Given the description of an element on the screen output the (x, y) to click on. 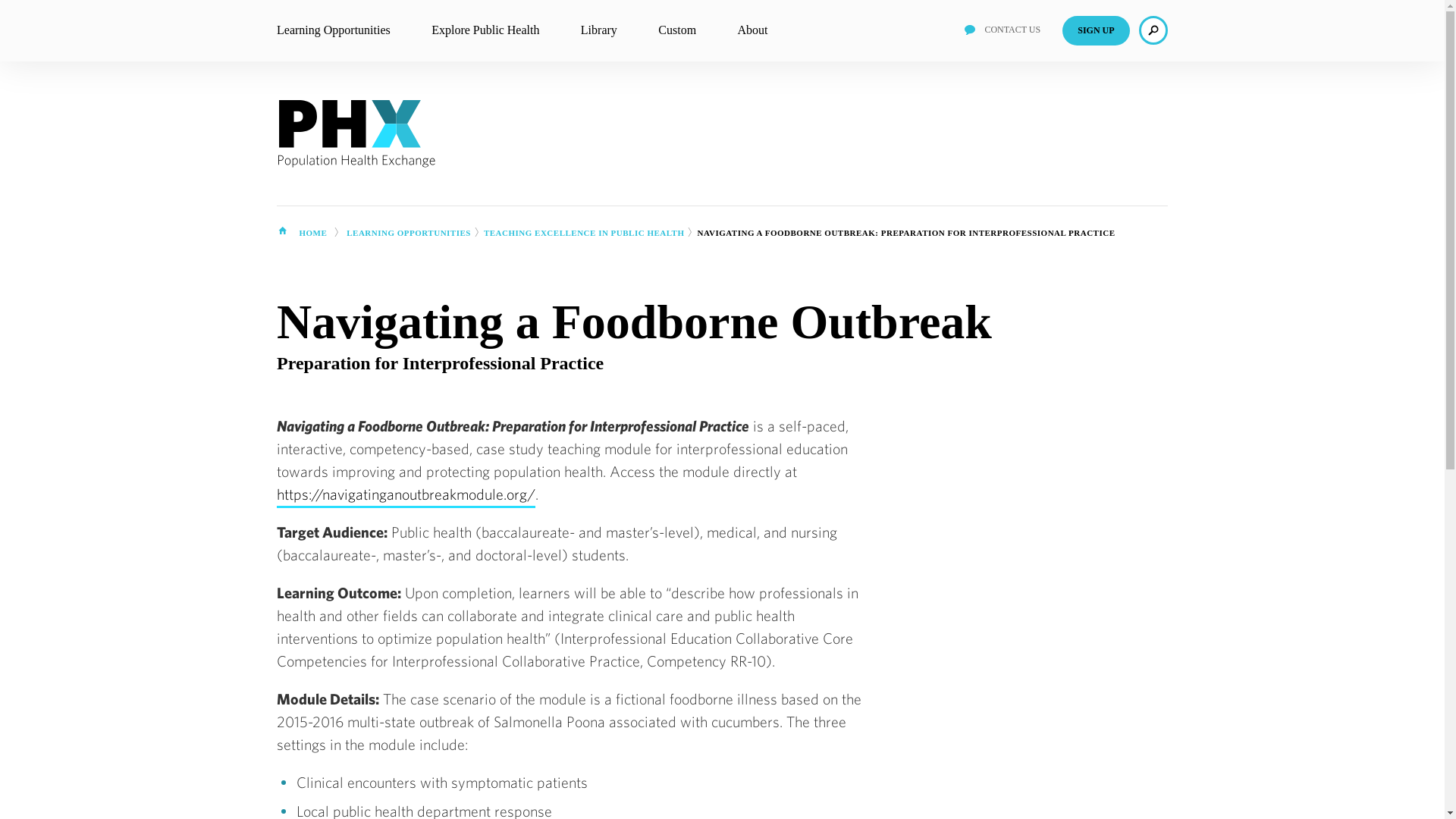
Library (599, 30)
About (753, 30)
Explore Public Health (484, 30)
HOME (312, 233)
Custom (676, 30)
Learning Opportunities (333, 30)
TEACHING EXCELLENCE IN PUBLIC HEALTH (583, 233)
LEARNING OPPORTUNITIES (408, 233)
Search (1152, 30)
SIGN UP (1095, 30)
